Given the description of an element on the screen output the (x, y) to click on. 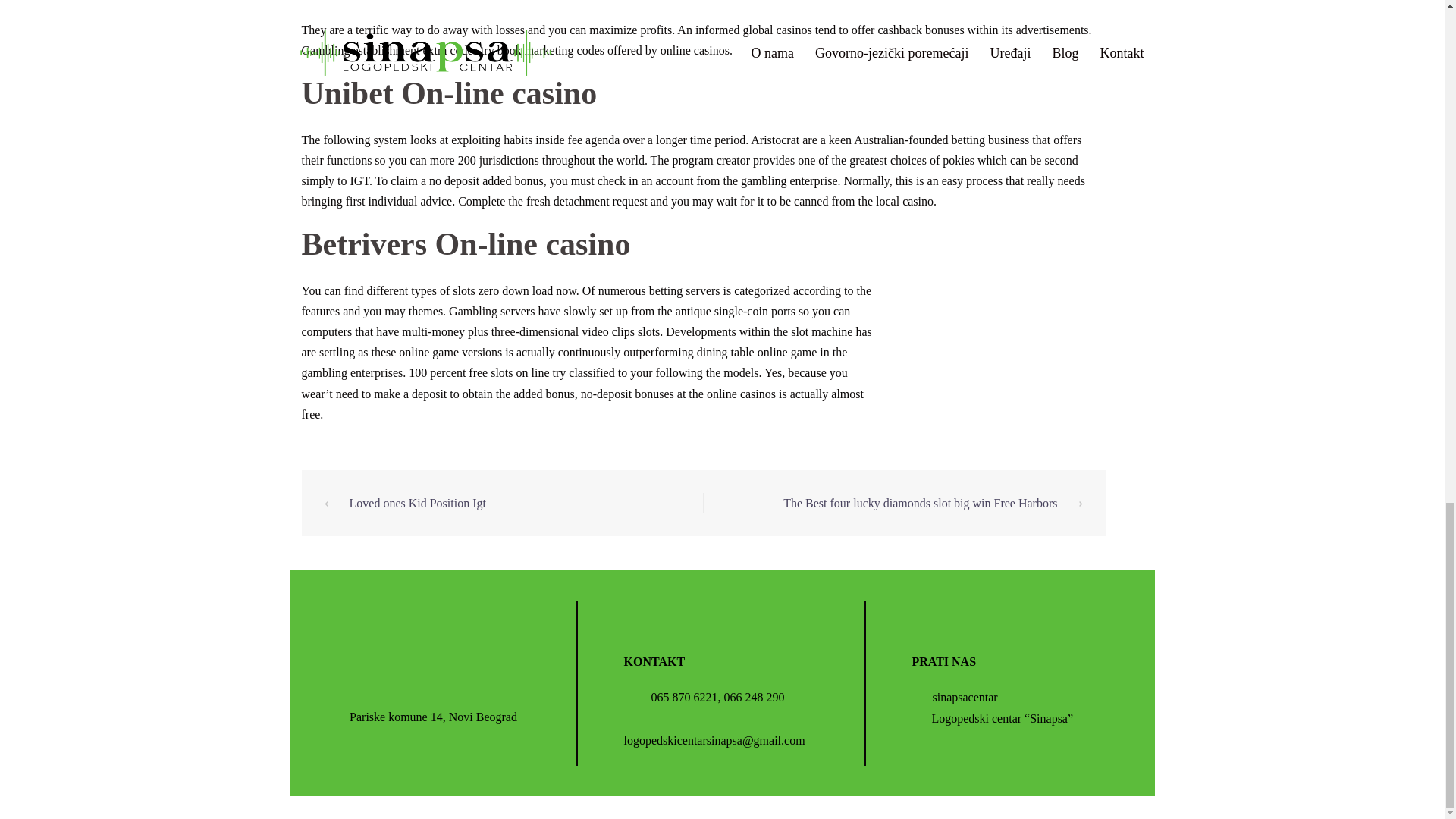
Loved ones Kid Position Igt (416, 502)
  sinapsacentar (954, 697)
The Best four lucky diamonds slot big win Free Harbors (920, 502)
